Given the description of an element on the screen output the (x, y) to click on. 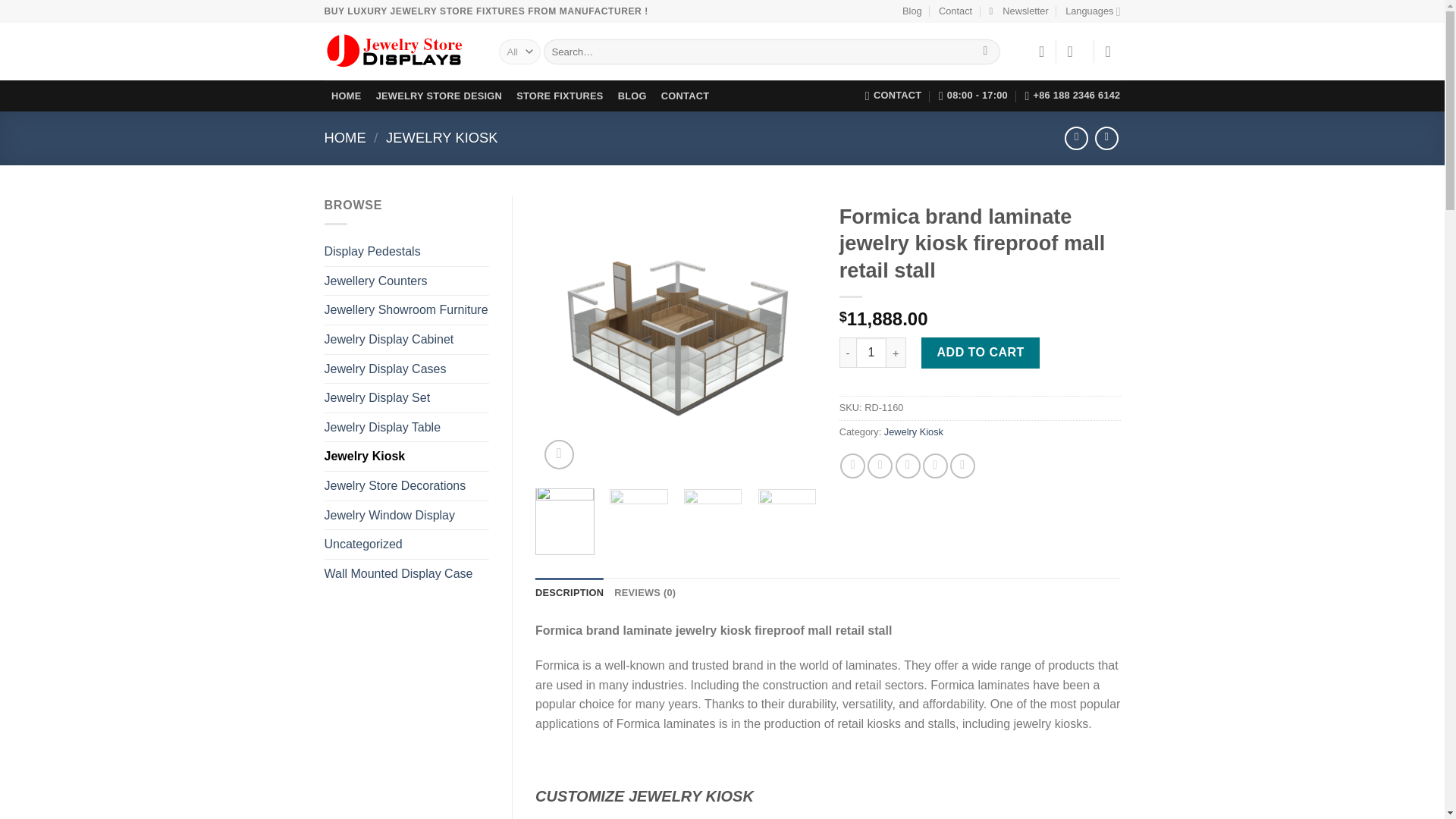
08:00 - 17:00  (973, 95)
CONTACT (684, 96)
08:00 - 17:00 (973, 95)
JEWELRY KIOSK (441, 137)
Cart (1113, 51)
- (848, 352)
Jewelry Display Cabinet (406, 339)
1 (871, 352)
JEWELRY STORE DESIGN (438, 96)
Newsletter (1018, 11)
Jewelry Store Displays (400, 51)
HOME (345, 137)
Jewellery Showroom Furniture (406, 309)
Contact (955, 11)
CONTACT (892, 95)
